Given the description of an element on the screen output the (x, y) to click on. 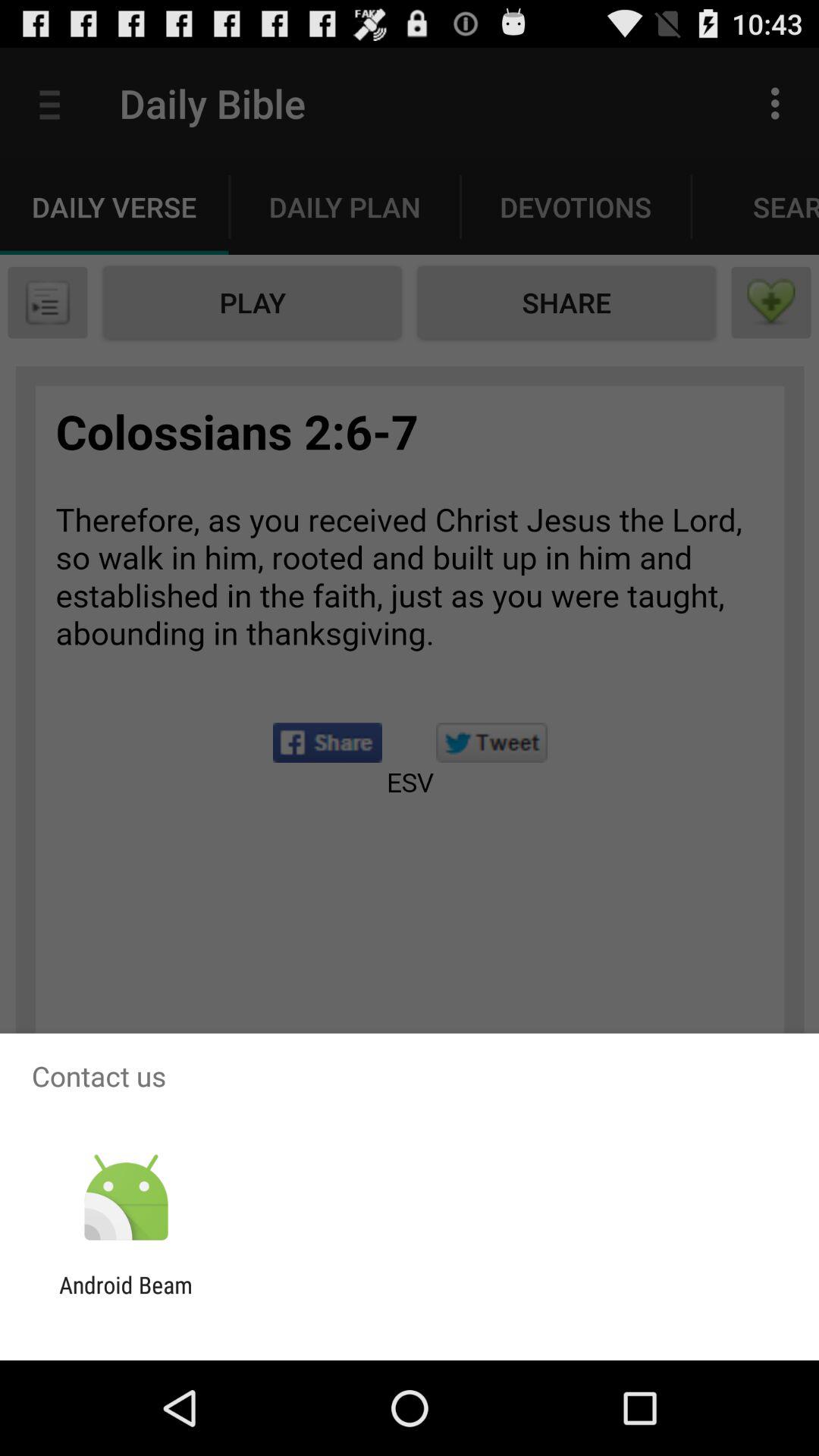
turn on the item below the contact us item (126, 1198)
